Given the description of an element on the screen output the (x, y) to click on. 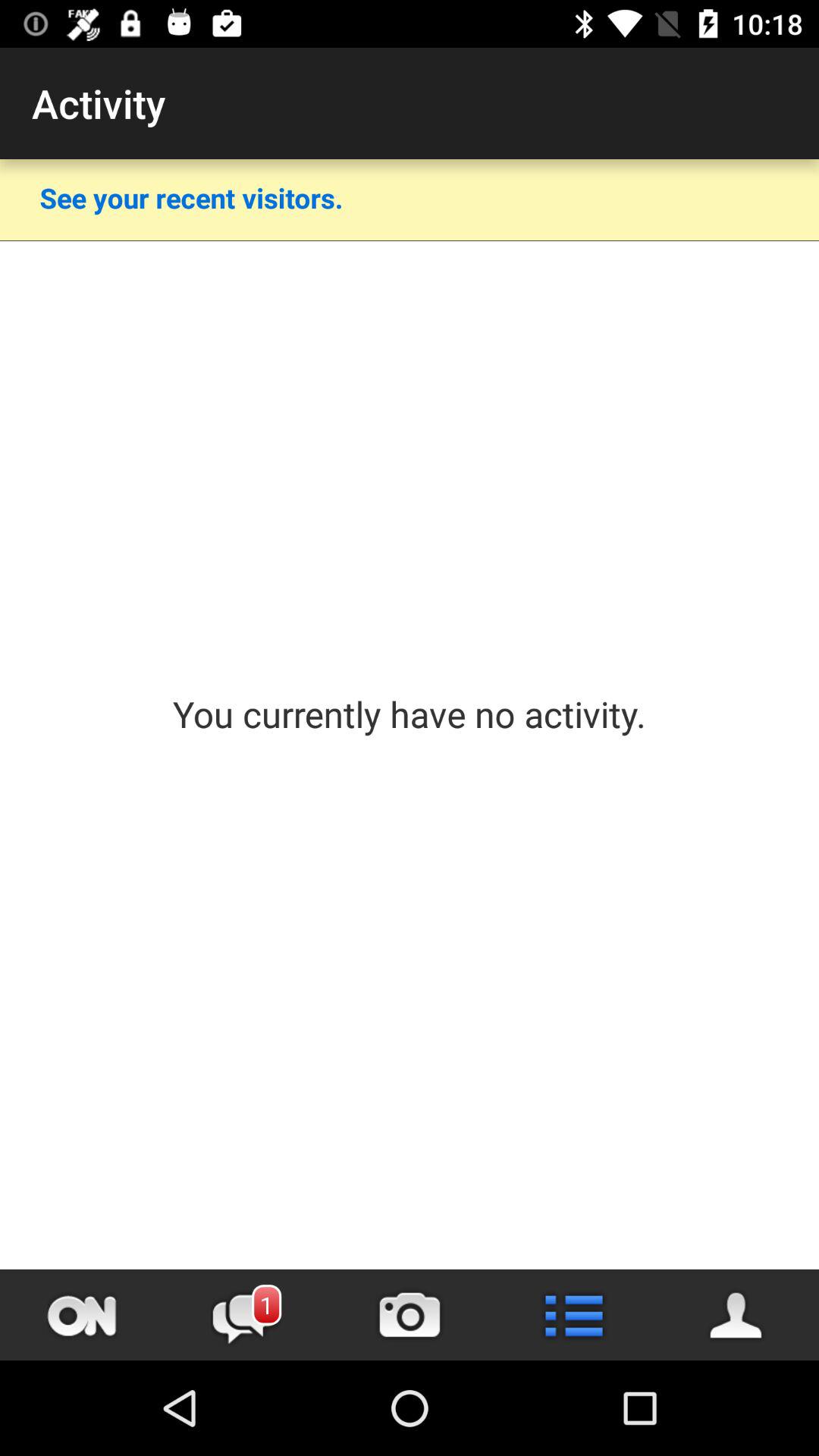
click the item below the activity item (190, 197)
